Given the description of an element on the screen output the (x, y) to click on. 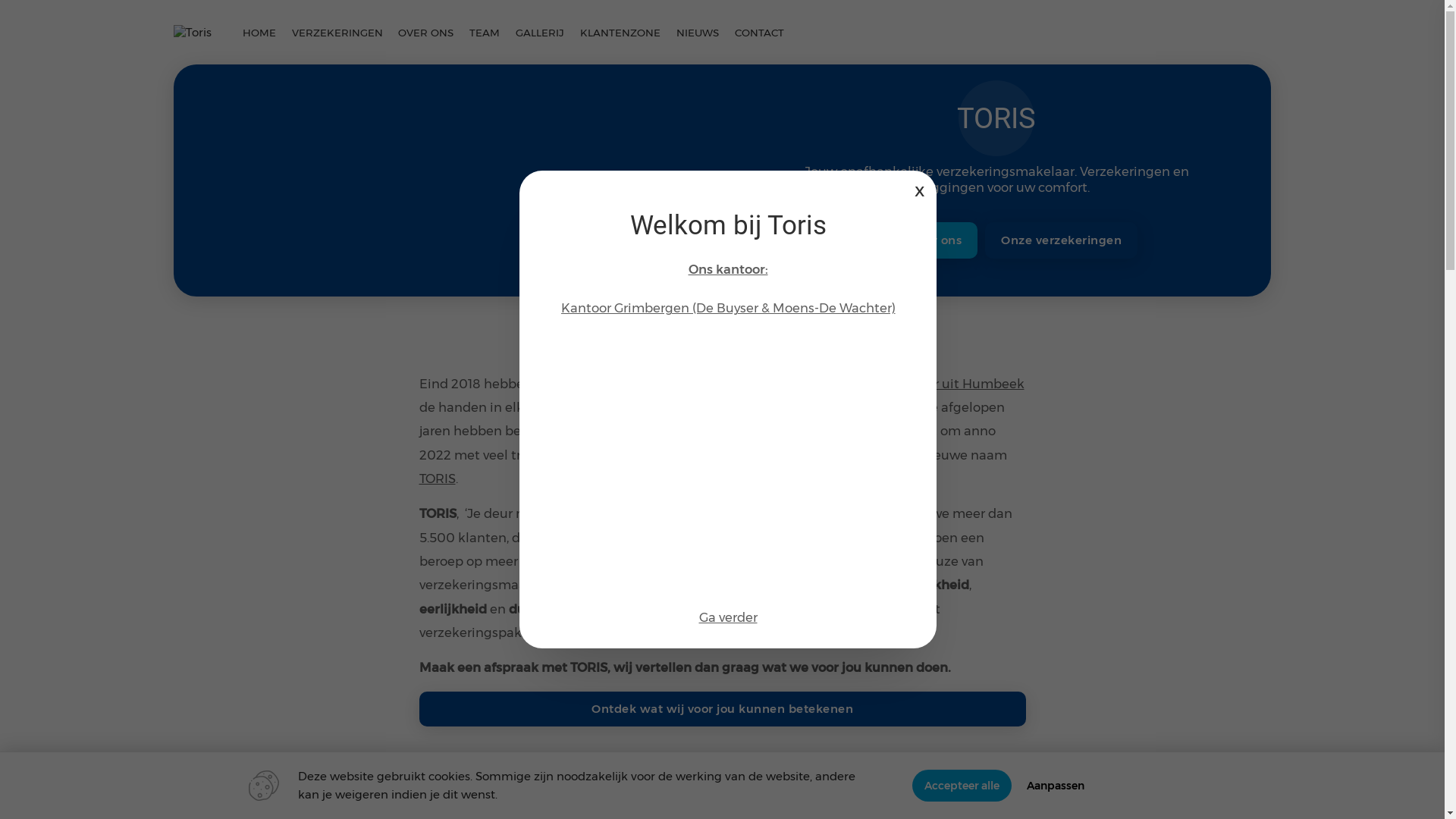
TEAM Element type: text (484, 31)
Ga verder Element type: text (727, 617)
Ontdek wat wij voor jou kunnen betekenen Element type: text (721, 709)
TORIS Element type: text (436, 478)
Kantoor Moens-Dewachter uit Humbeek Element type: text (896, 383)
Accepteer alle Element type: text (960, 785)
CONTACT Element type: text (758, 31)
NIEUWS Element type: text (697, 31)
GALLERIJ Element type: text (539, 31)
Kantoor Grimbergen (De Buyser & Moens-De Wachter) Element type: text (728, 308)
Aanpassen Element type: text (1055, 785)
x Element type: text (919, 189)
Contacteer ons Element type: text (916, 239)
Onze verzekeringen Element type: text (1061, 239)
OVER ONS Element type: text (426, 31)
Toris Element type: hover (192, 32)
Kantoor De Buyser uit Grimbergen Element type: text (642, 383)
HOME Element type: text (258, 31)
KLANTENZONE Element type: text (620, 31)
